Given the description of an element on the screen output the (x, y) to click on. 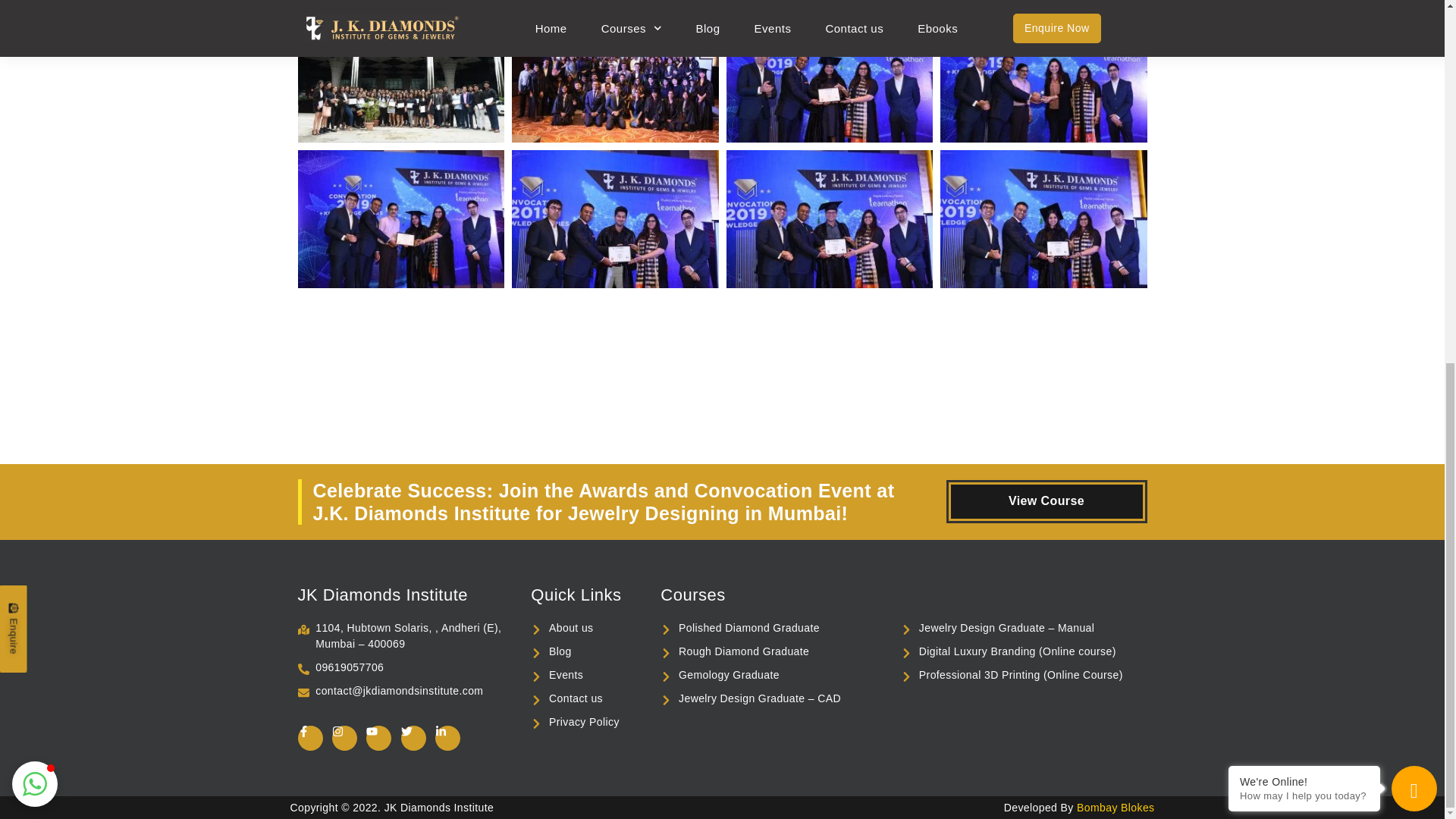
How may I help you today? (1304, 147)
We're Online! (1304, 133)
